Given the description of an element on the screen output the (x, y) to click on. 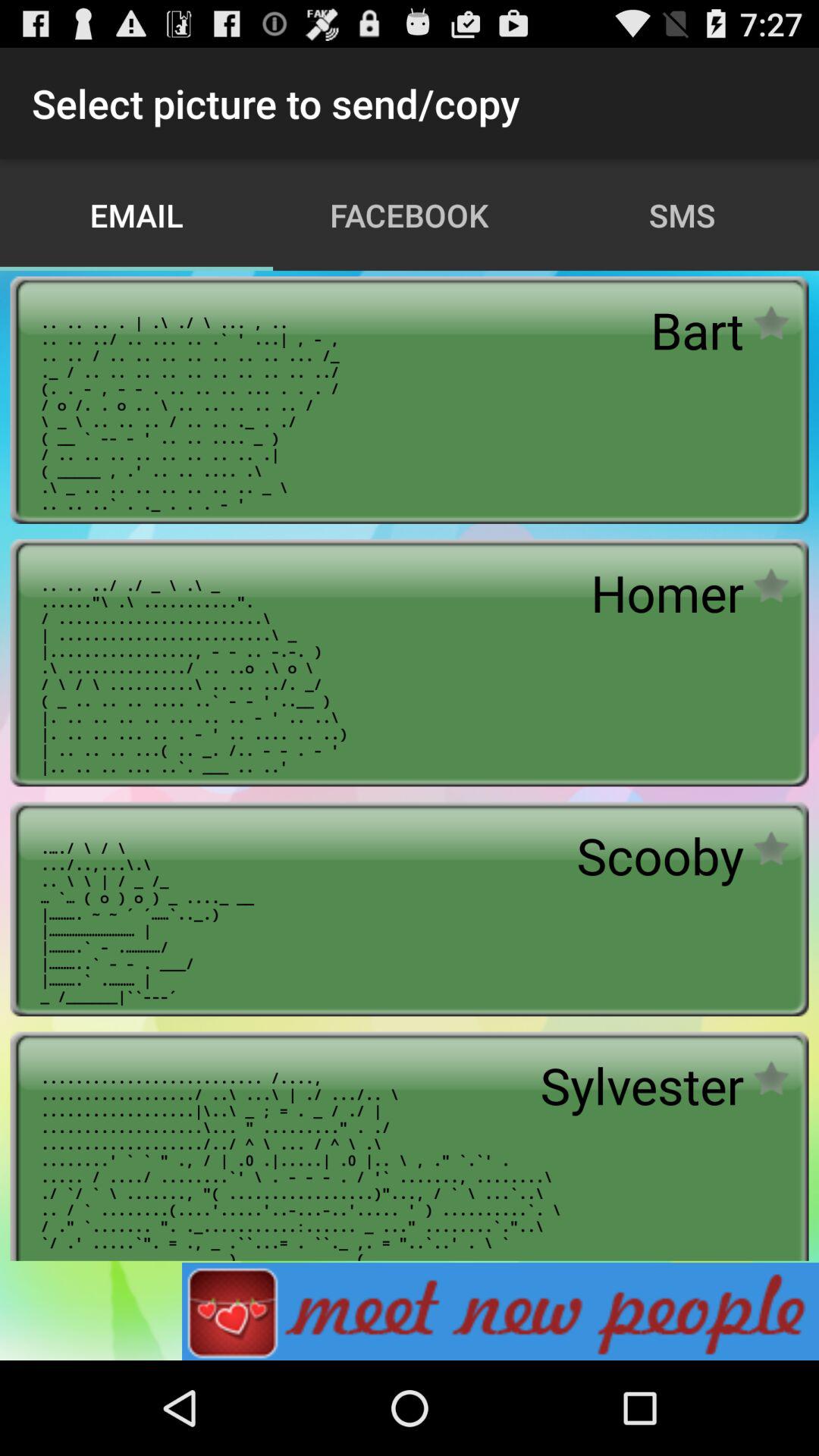
advertisement for dating app (500, 1311)
